Given the description of an element on the screen output the (x, y) to click on. 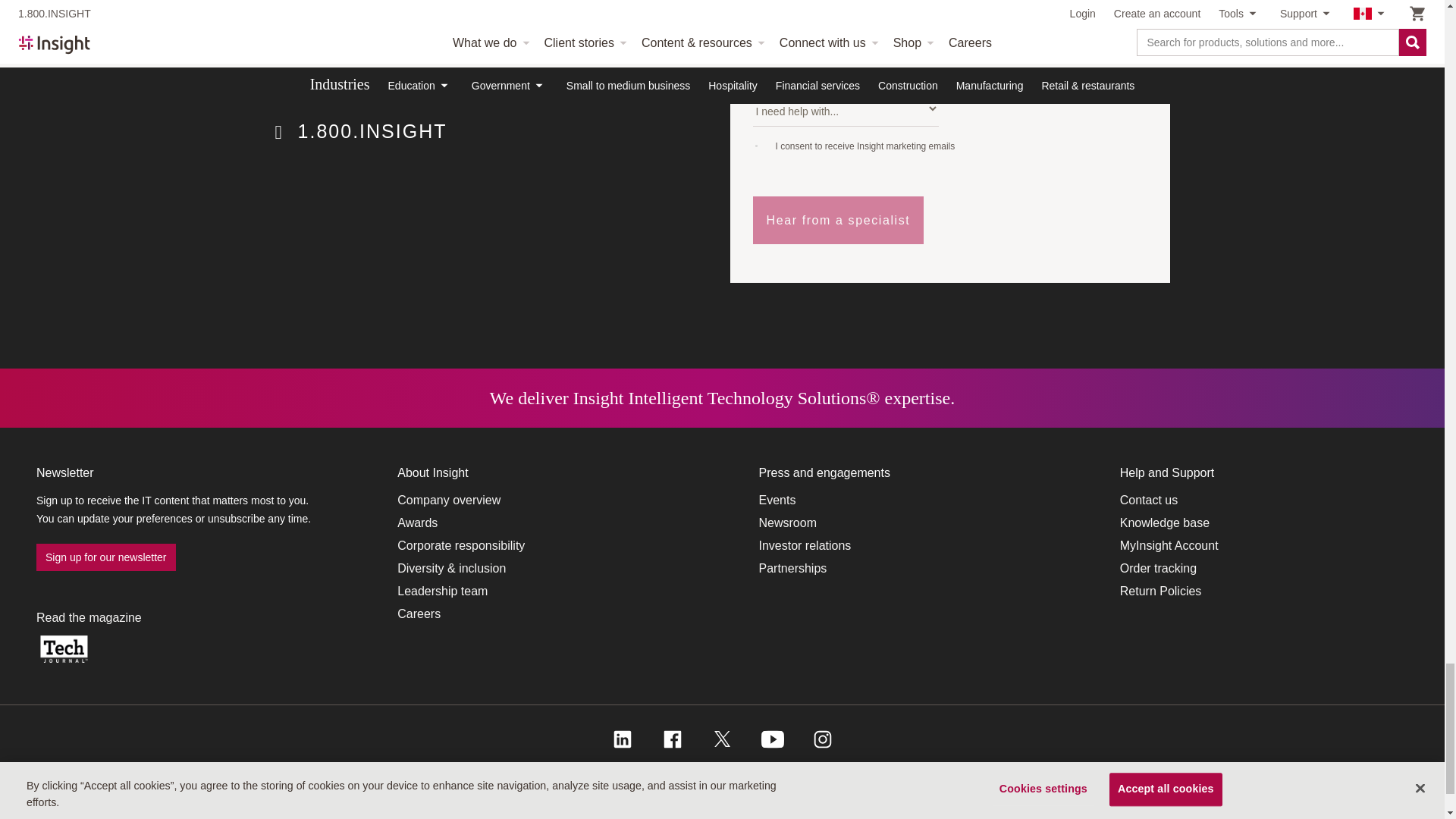
Your response is limited to 40 characters (1046, 62)
